Given the description of an element on the screen output the (x, y) to click on. 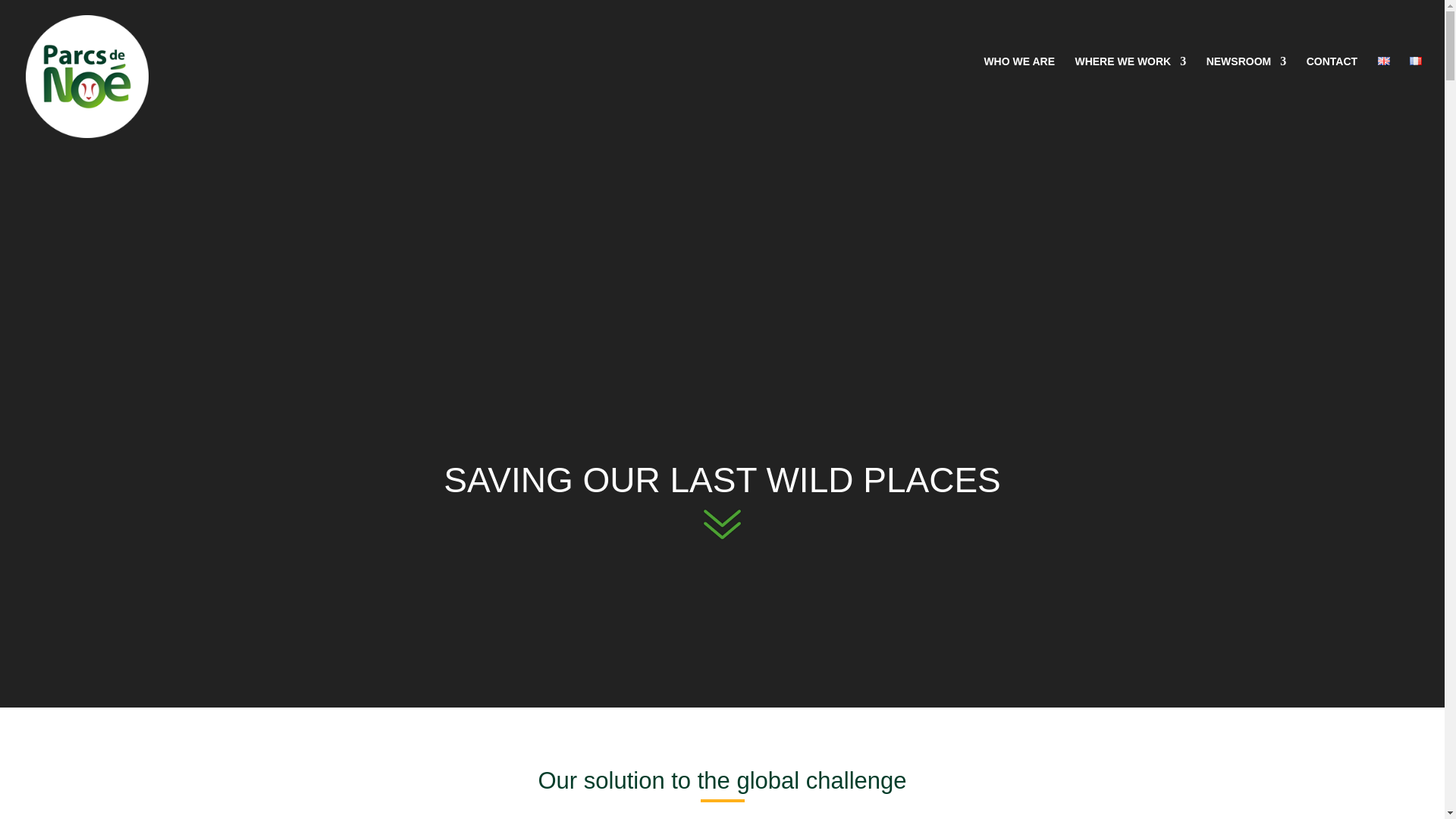
WHO WE ARE (1019, 89)
NEWSROOM (1247, 89)
CONTACT (1331, 89)
WHERE WE WORK (1130, 89)
